Given the description of an element on the screen output the (x, y) to click on. 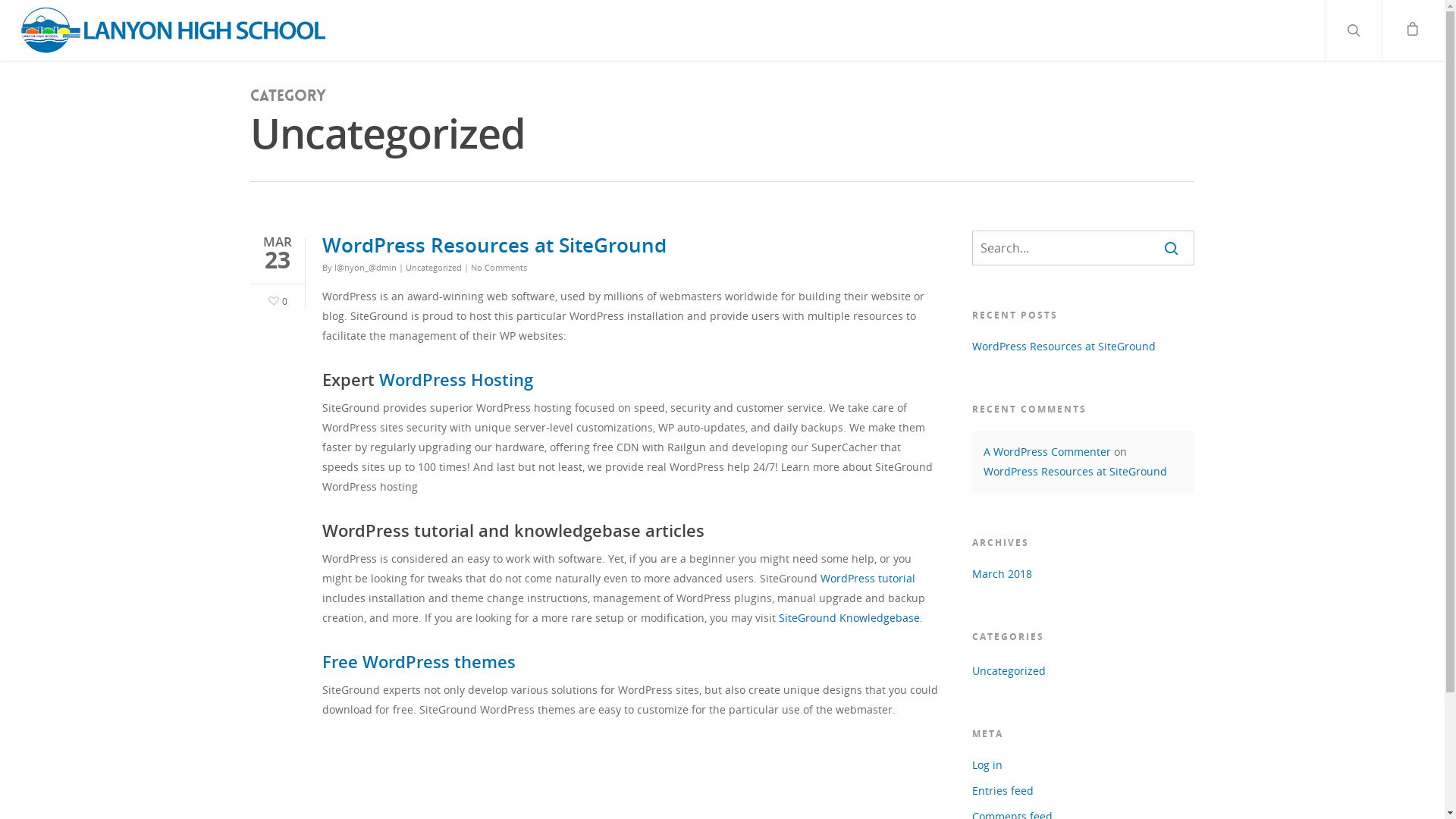
WordPress Resources at SiteGround Element type: text (494, 244)
WordPress Resources at SiteGround Element type: text (1075, 471)
A WordPress Commenter Element type: text (1046, 451)
Free WordPress themes Element type: text (418, 660)
No Comments Element type: text (498, 267)
Log in Element type: text (1083, 765)
WordPress tutorial Element type: text (867, 578)
SiteGround Knowledgebase Element type: text (848, 617)
l@nyon_@dmin Element type: text (365, 267)
Search for: Element type: hover (1083, 247)
March 2018 Element type: text (1083, 573)
0 Element type: text (275, 299)
WordPress Hosting Element type: text (456, 378)
Uncategorized Element type: text (1083, 670)
Uncategorized Element type: text (433, 267)
WordPress Resources at SiteGround Element type: text (1083, 346)
Entries feed Element type: text (1083, 790)
